Given the description of an element on the screen output the (x, y) to click on. 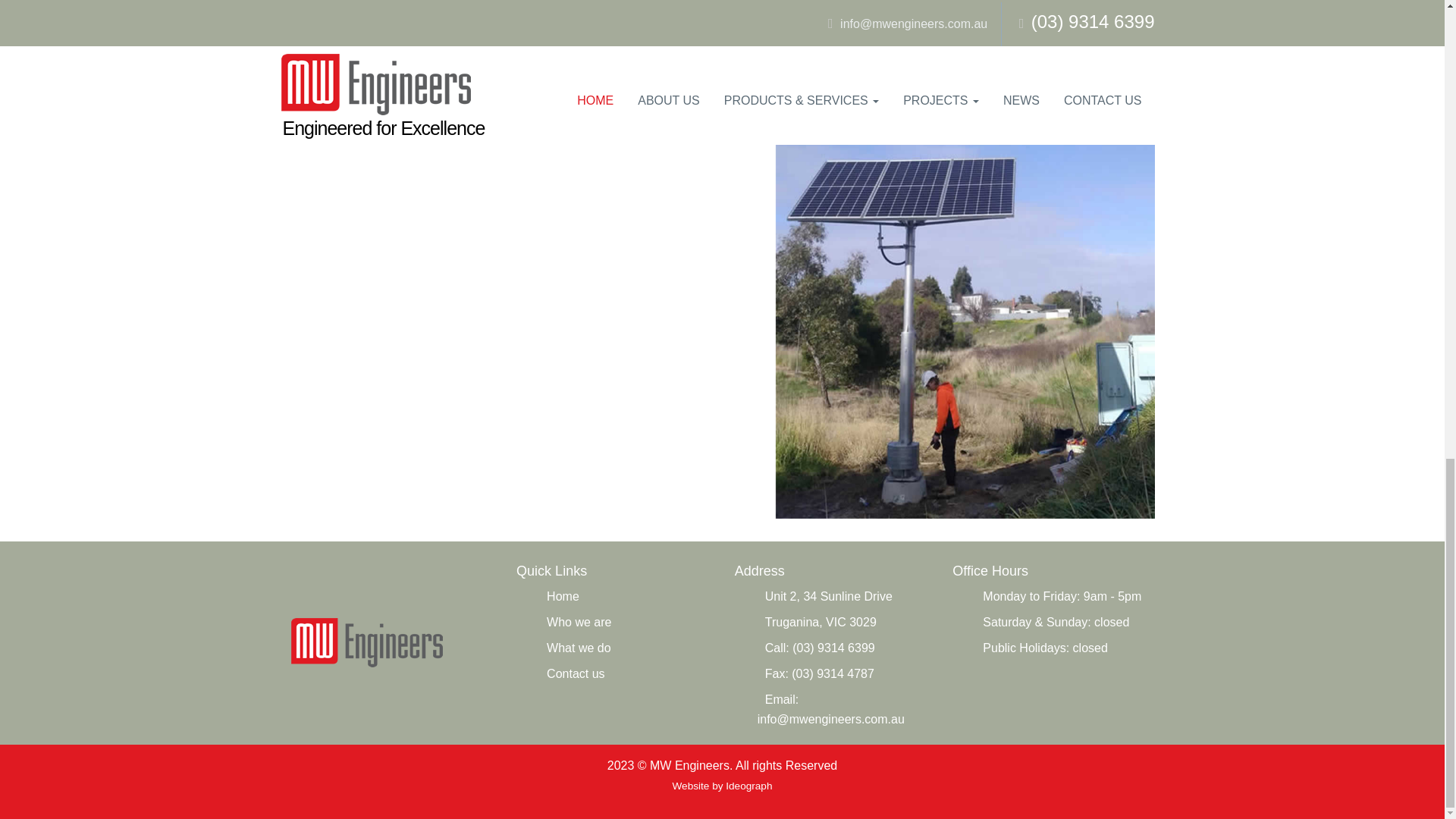
Who we are (579, 621)
Website by Ideograph (721, 784)
Home (563, 595)
Contact us (575, 673)
What we do (578, 647)
